Given the description of an element on the screen output the (x, y) to click on. 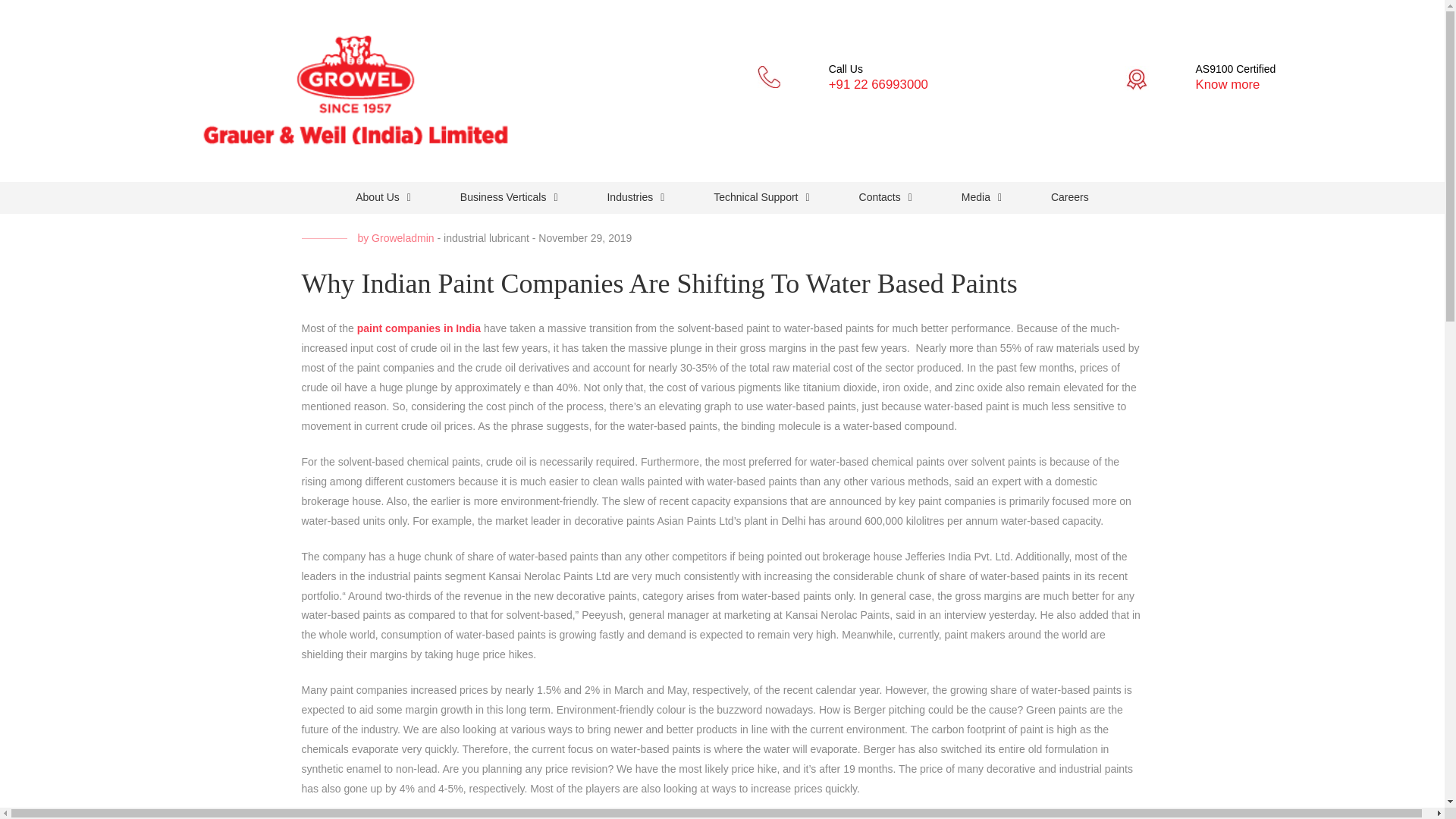
About Us (382, 197)
Contacts (885, 197)
Business Verticals (509, 197)
Technical Support (761, 197)
Industries (634, 197)
Know more (1227, 83)
